Given the description of an element on the screen output the (x, y) to click on. 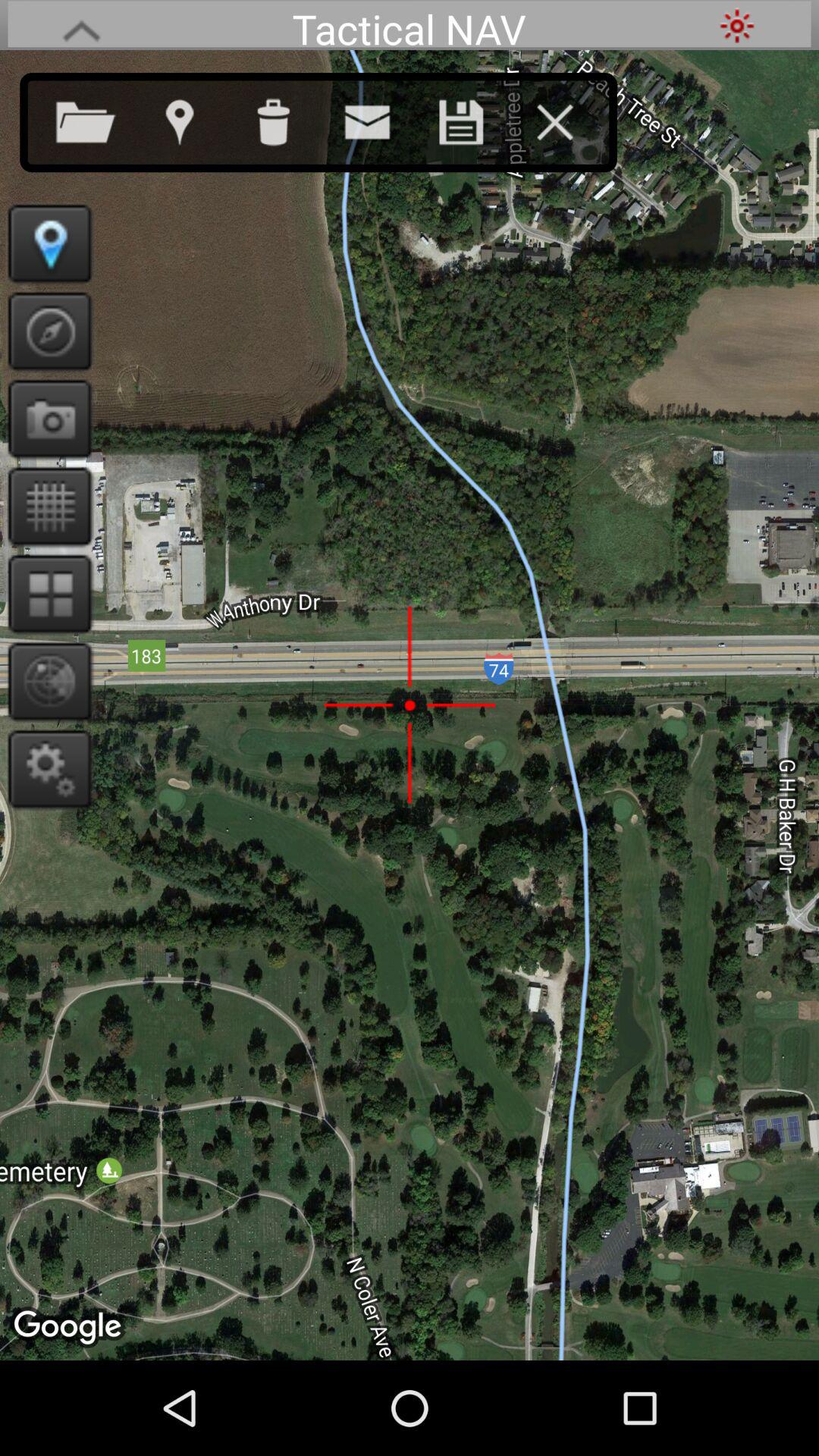
select the item below the tactical nav (382, 119)
